Given the description of an element on the screen output the (x, y) to click on. 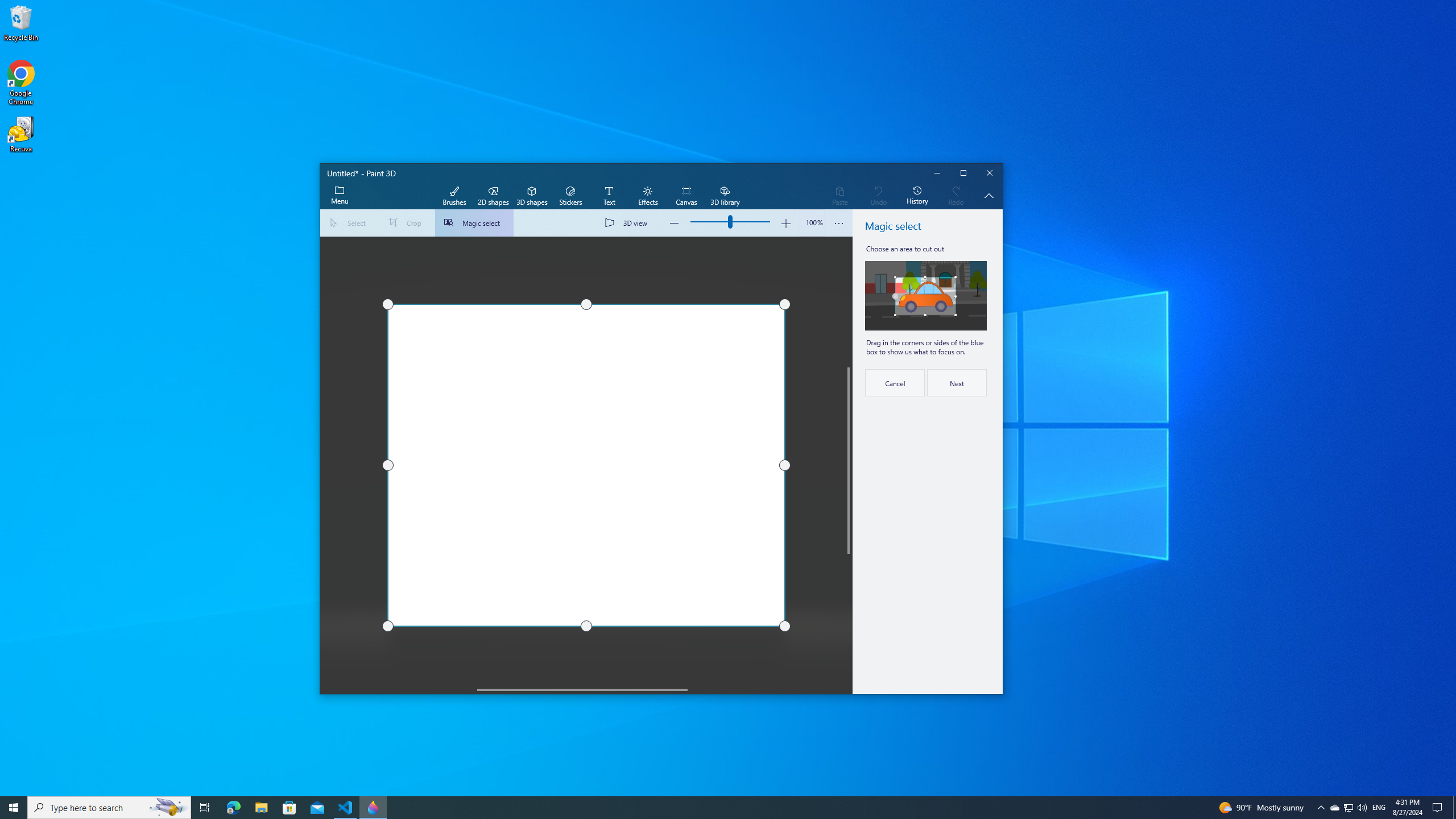
Hide description (989, 195)
Redo (955, 195)
3D library (725, 195)
Paint 3D - 1 running window (373, 807)
Horizontal (582, 689)
Cancel (894, 382)
Vertical (848, 460)
Effects (647, 195)
Running applications (706, 807)
Text (608, 195)
Vertical Large Increase (848, 619)
